Given the description of an element on the screen output the (x, y) to click on. 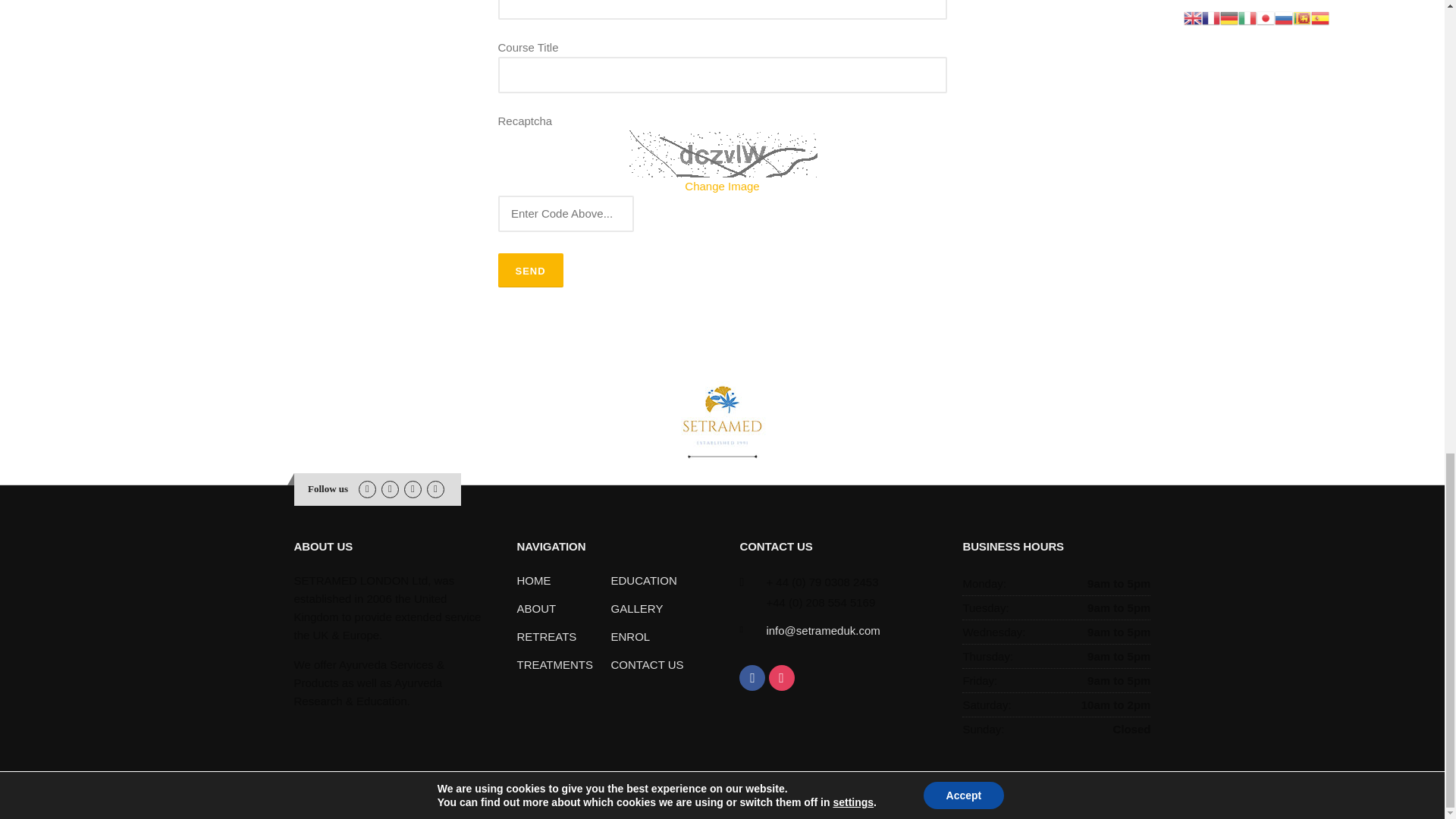
Send (529, 270)
Instagram (389, 488)
Youtube (413, 488)
Change Image (721, 185)
Facebook (366, 488)
Send (529, 270)
Twitter (435, 488)
